Given the description of an element on the screen output the (x, y) to click on. 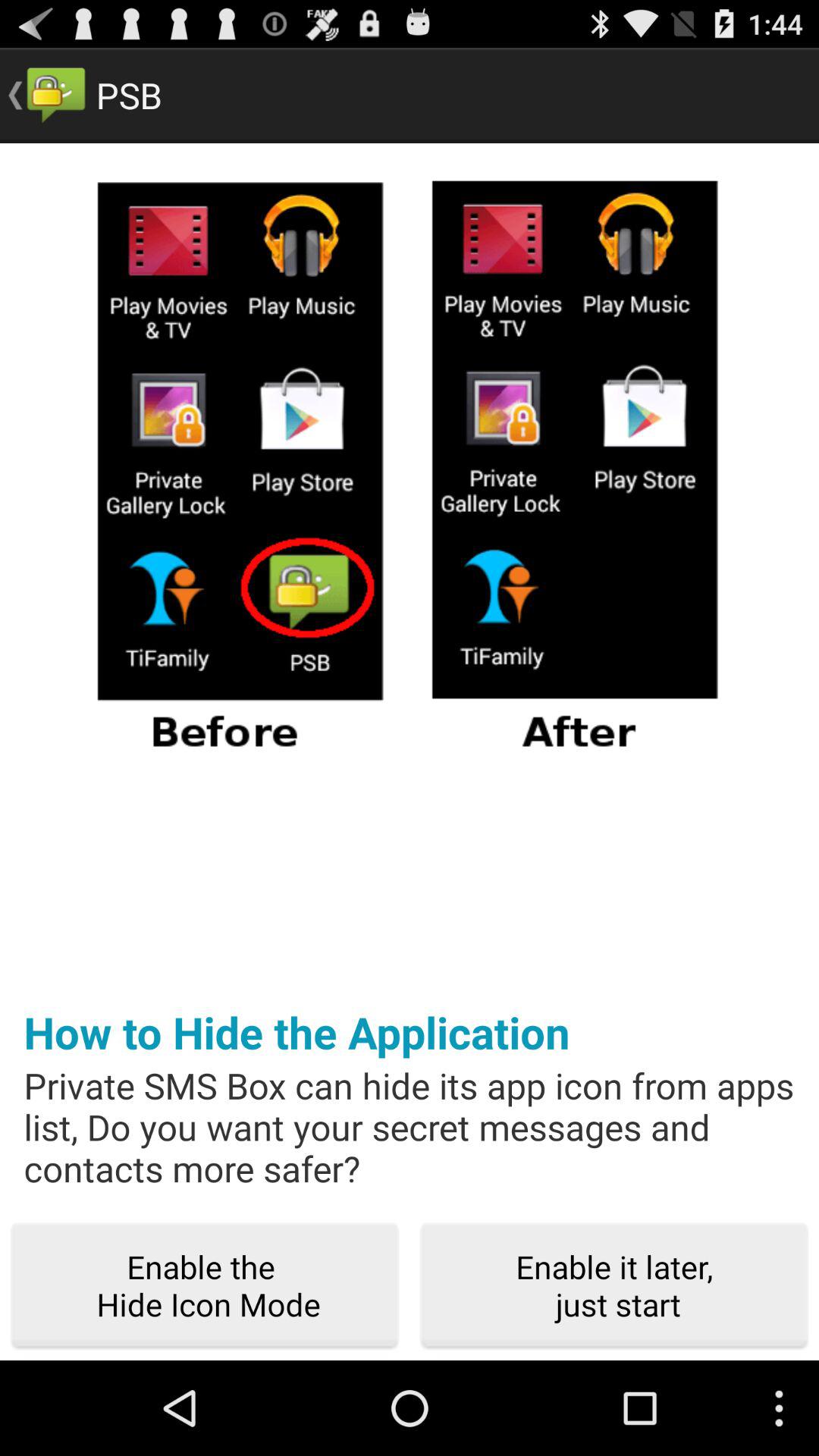
turn on the button at the bottom right corner (613, 1286)
